Given the description of an element on the screen output the (x, y) to click on. 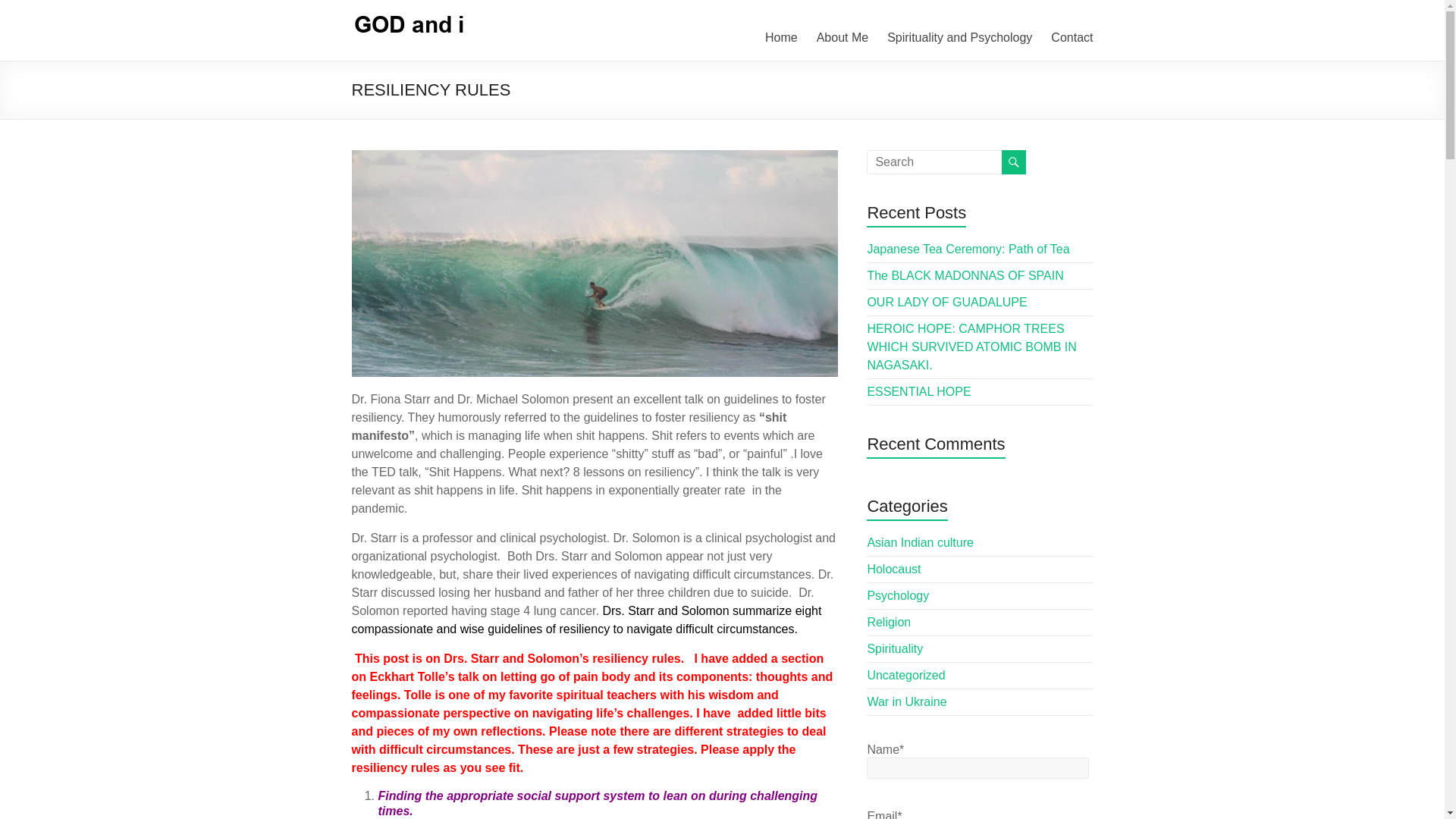
Home (781, 37)
Spirituality (894, 648)
RESILIENCY RULES (595, 262)
Religion (888, 621)
Holocaust (893, 568)
Uncategorized (905, 675)
Contact (1072, 37)
The BLACK MADONNAS OF SPAIN (964, 275)
About Me (841, 37)
Psychology (897, 594)
